Given the description of an element on the screen output the (x, y) to click on. 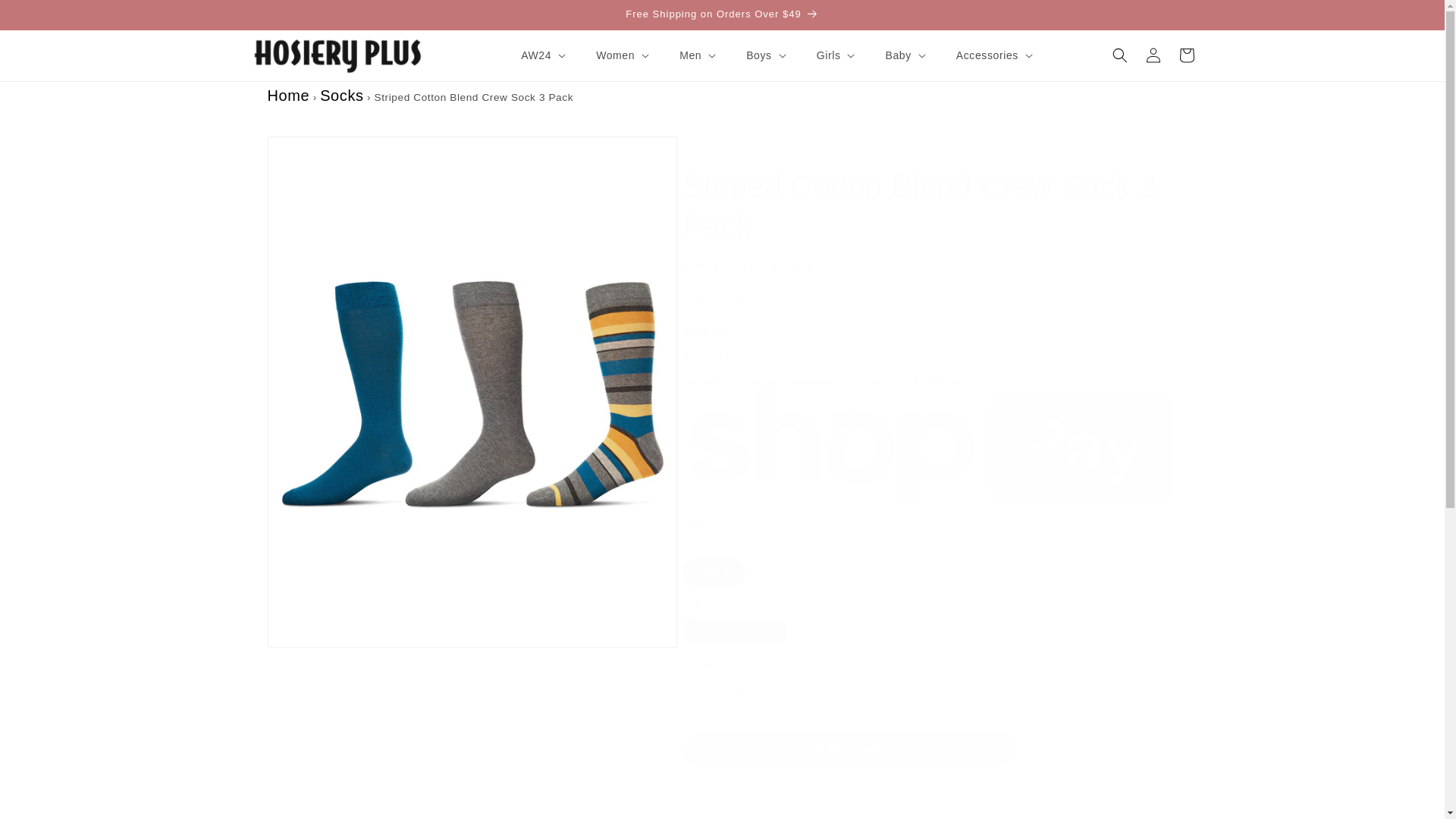
Socks (341, 95)
1 (736, 695)
Skip to content (45, 16)
